Given the description of an element on the screen output the (x, y) to click on. 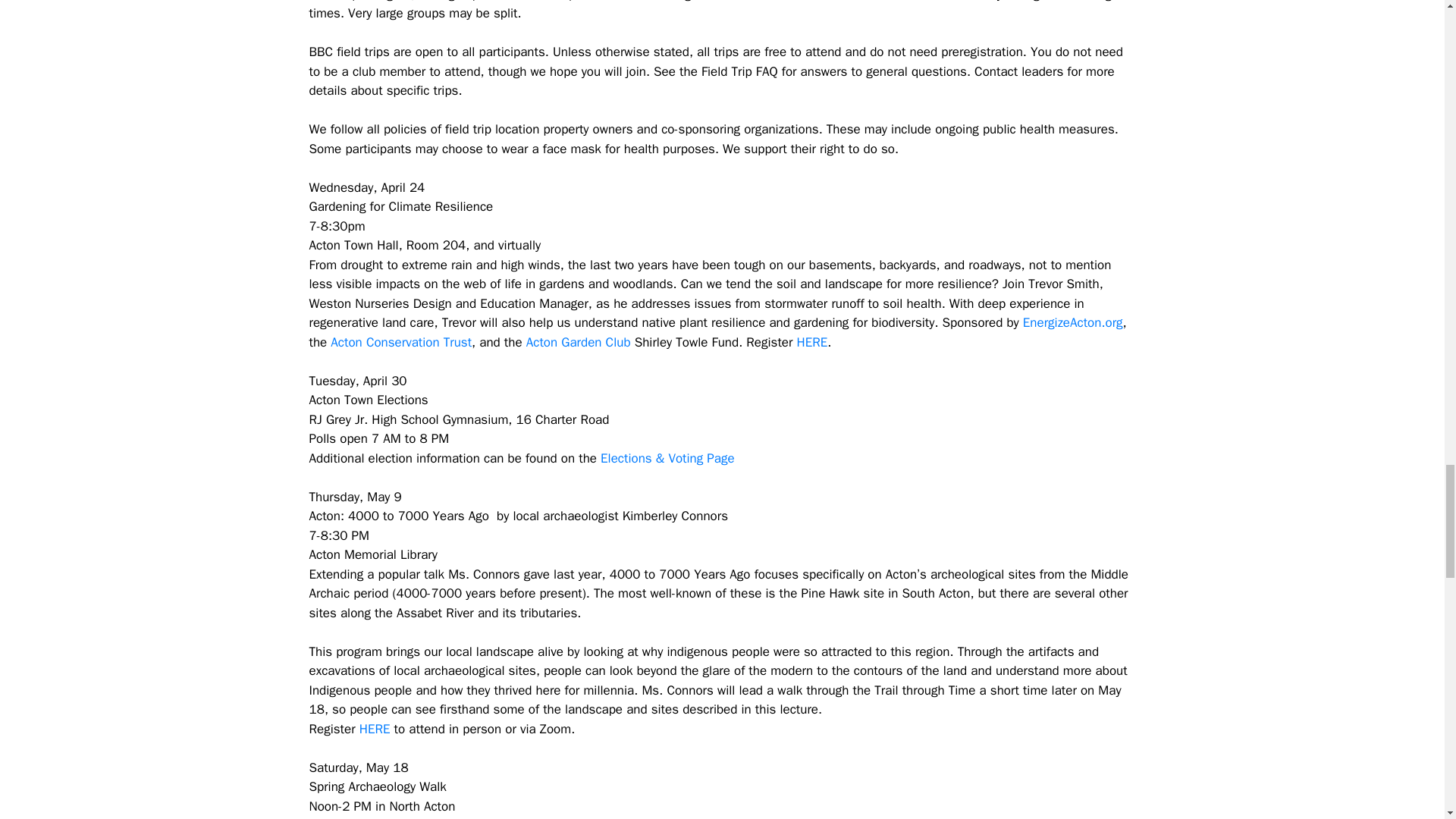
EnergizeActon.org (1072, 322)
HERE (812, 342)
Acton Garden Club (577, 342)
Acton Conservation Trust (400, 342)
